Given the description of an element on the screen output the (x, y) to click on. 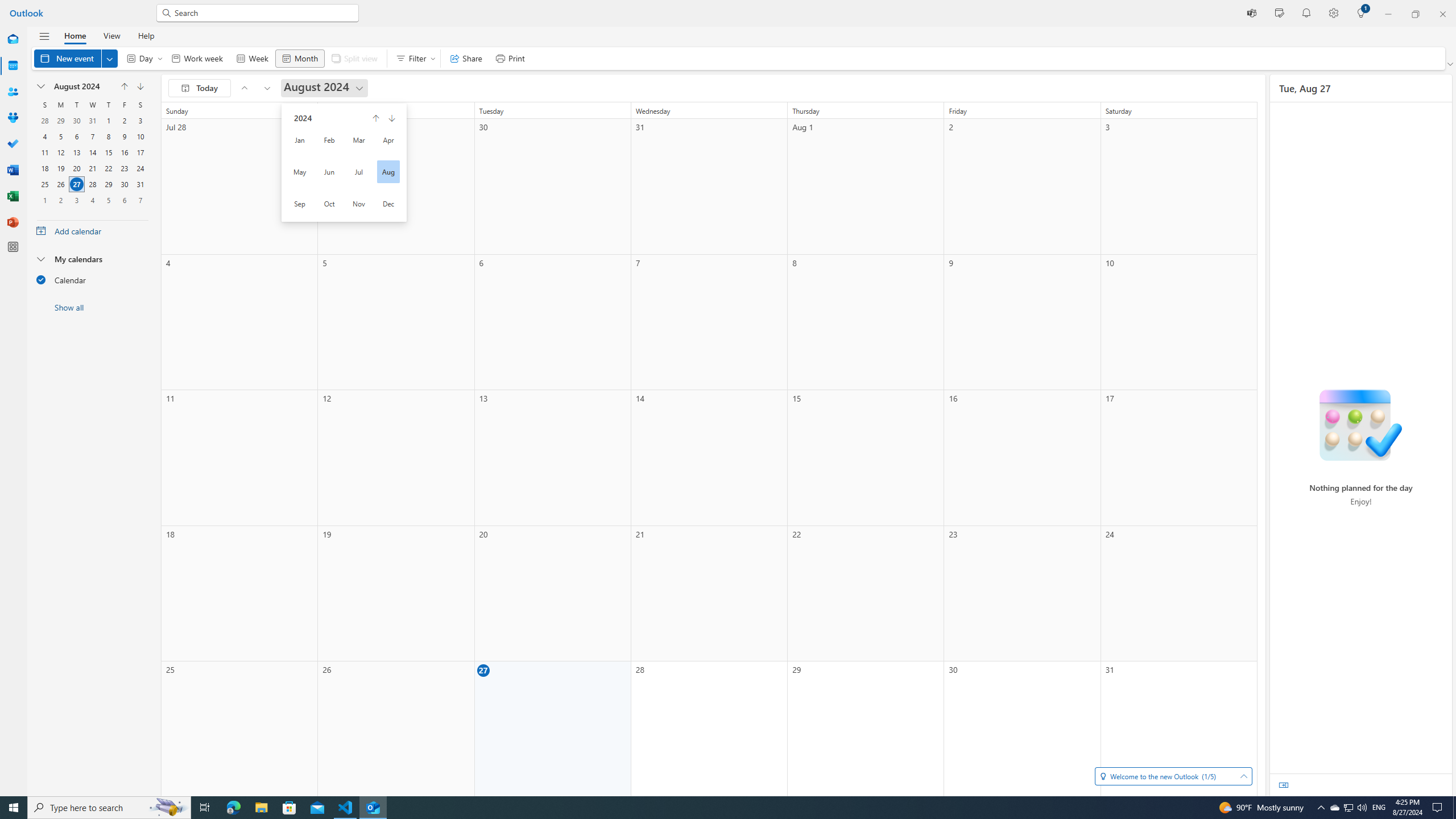
26, August, 2024 (59, 183)
Go to previous month July (124, 86)
Add calendar (92, 230)
View (111, 35)
1, September, 2024 (44, 200)
Expand to see more Day options (159, 58)
27, August, 2024 (75, 183)
10, August, 2024 (140, 136)
26, August, 2024 (60, 184)
28, August, 2024 (92, 183)
Go to previous month July 2024 (244, 88)
10, August, 2024 (140, 136)
28, August, 2024 (92, 184)
